Given the description of an element on the screen output the (x, y) to click on. 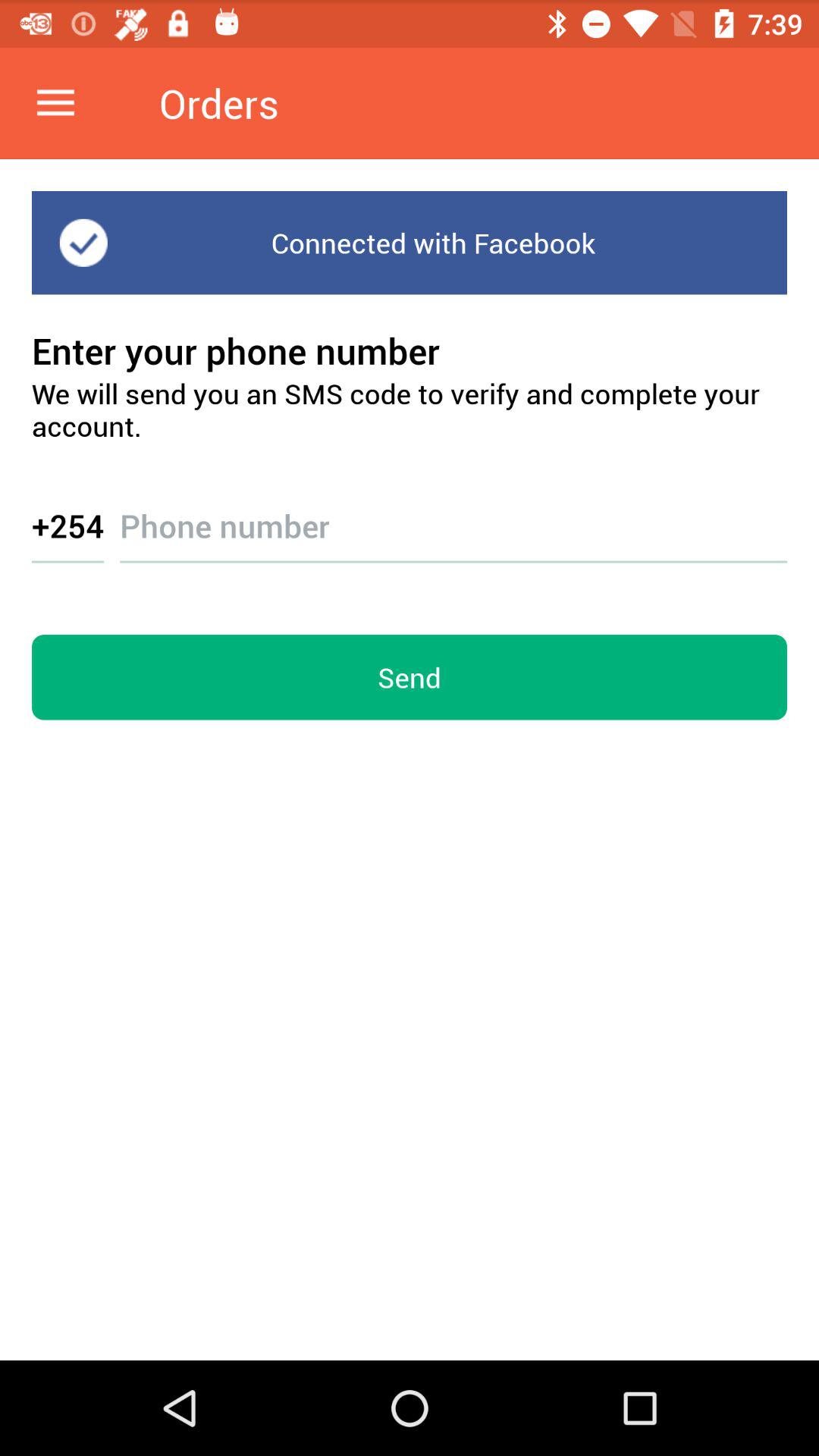
turn off the item next to the orders icon (55, 103)
